Given the description of an element on the screen output the (x, y) to click on. 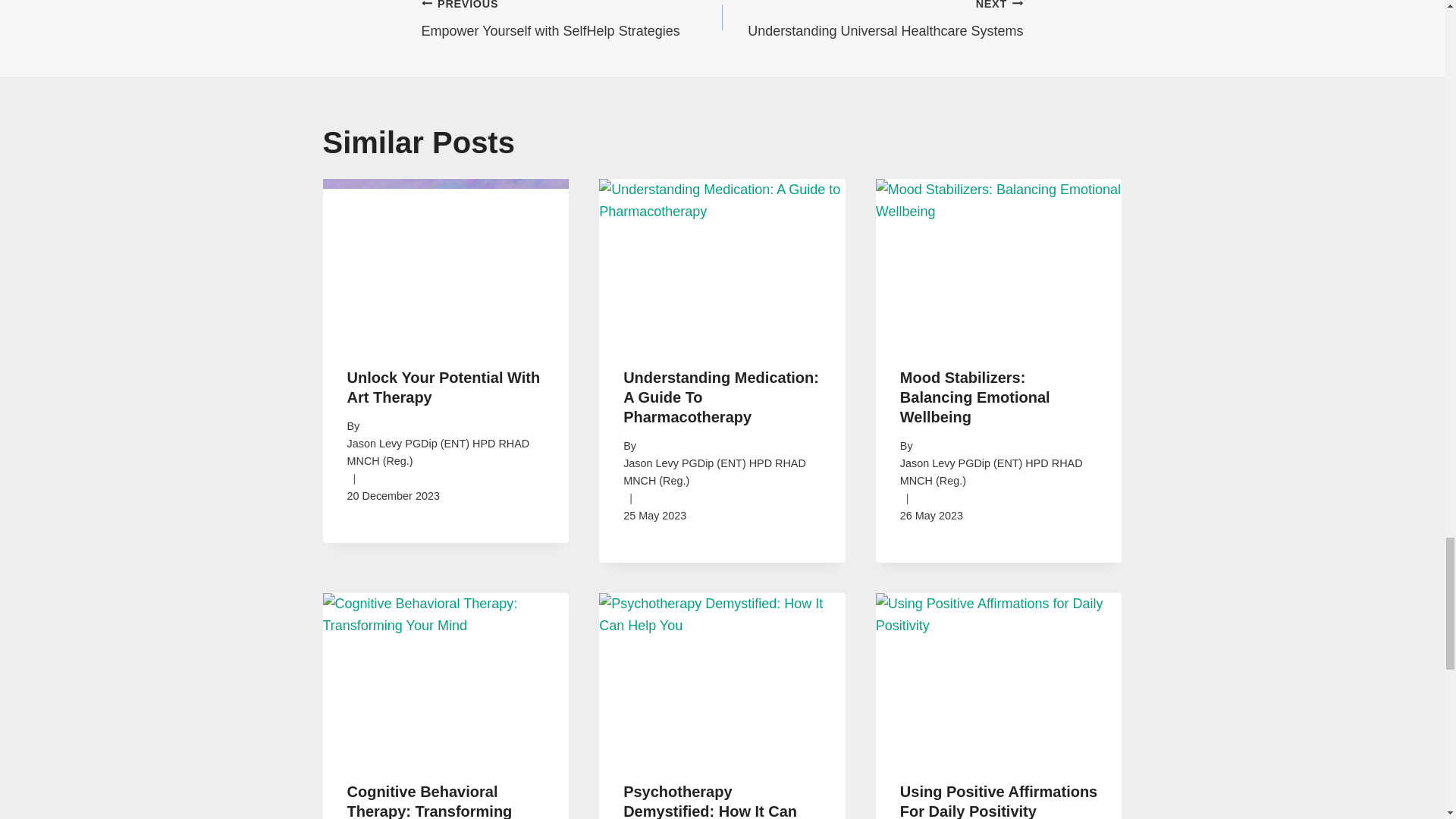
Understanding Medication: A Guide To Pharmacotherapy (720, 397)
Mood Stabilizers: Balancing Emotional Wellbeing (572, 21)
Unlock Your Potential With Art Therapy (872, 21)
